Given the description of an element on the screen output the (x, y) to click on. 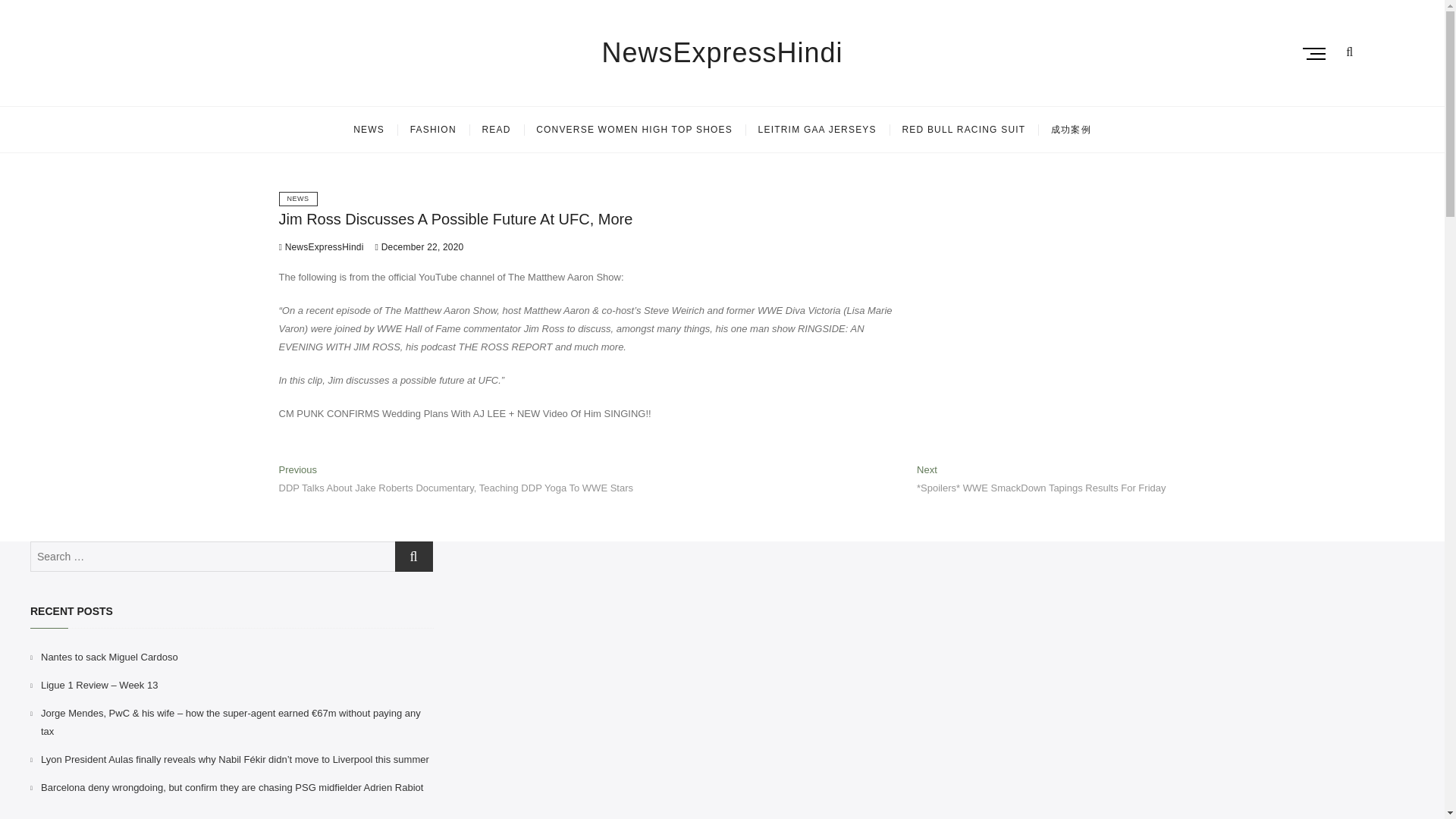
Jim Ross Discusses A Possible Future At UFC, More (321, 246)
December 22, 2020 (419, 246)
NewsExpressHindi (722, 52)
Jim Ross Discusses A Possible Future At UFC, More (456, 218)
NEWS (298, 198)
NewsExpressHindi (722, 52)
December 22, 2020 (419, 246)
CONVERSE WOMEN HIGH TOP SHOES (634, 129)
READ (495, 129)
